Given the description of an element on the screen output the (x, y) to click on. 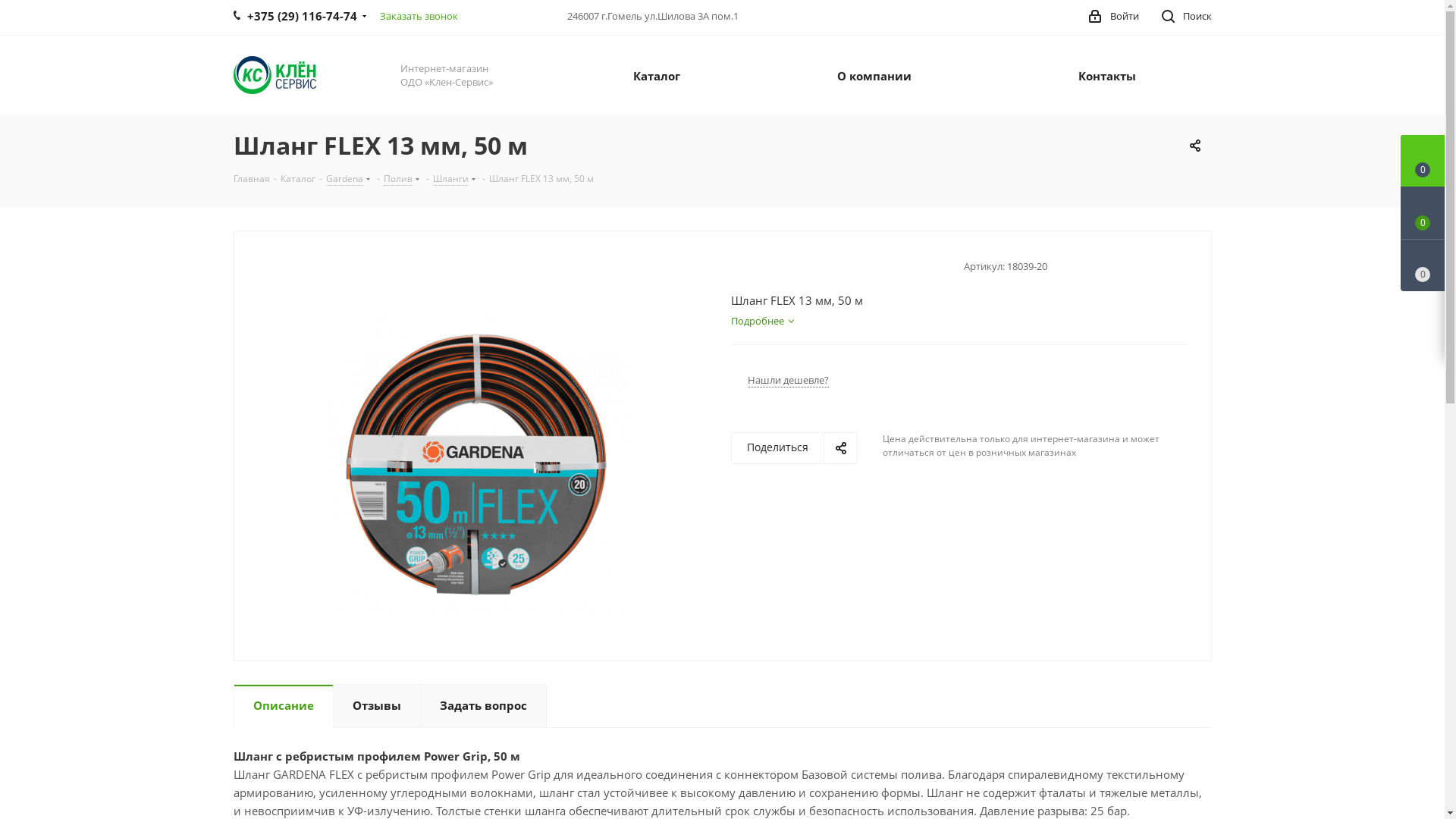
q Element type: hover (477, 463)
Gardena Element type: text (344, 177)
